Given the description of an element on the screen output the (x, y) to click on. 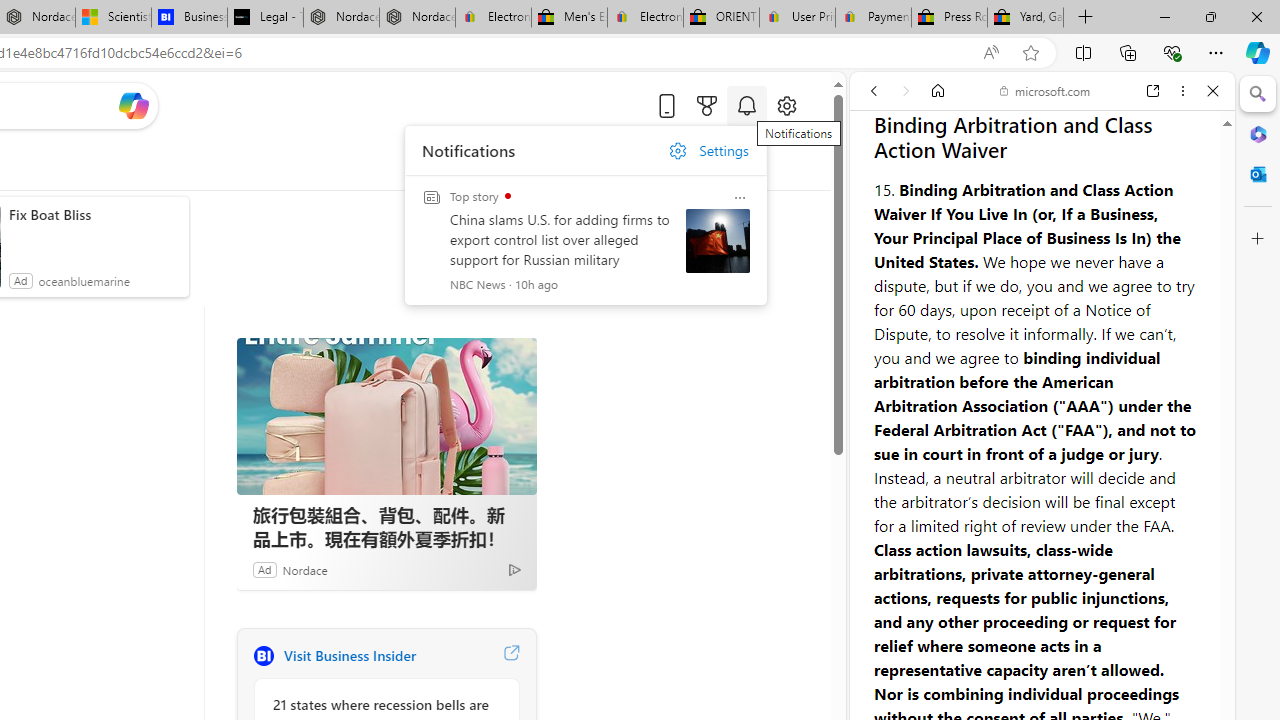
Ad Choice (514, 569)
oceanbluemarine (84, 280)
Settings and more (Alt+F) (1215, 52)
Customize (1258, 239)
Yard, Garden & Outdoor Living (1025, 17)
Settings (708, 151)
Minimize (1164, 16)
Microsoft 365 (1258, 133)
Outlook (1258, 174)
Nordace (304, 569)
Open Copilot (132, 105)
Open settings (786, 105)
